Given the description of an element on the screen output the (x, y) to click on. 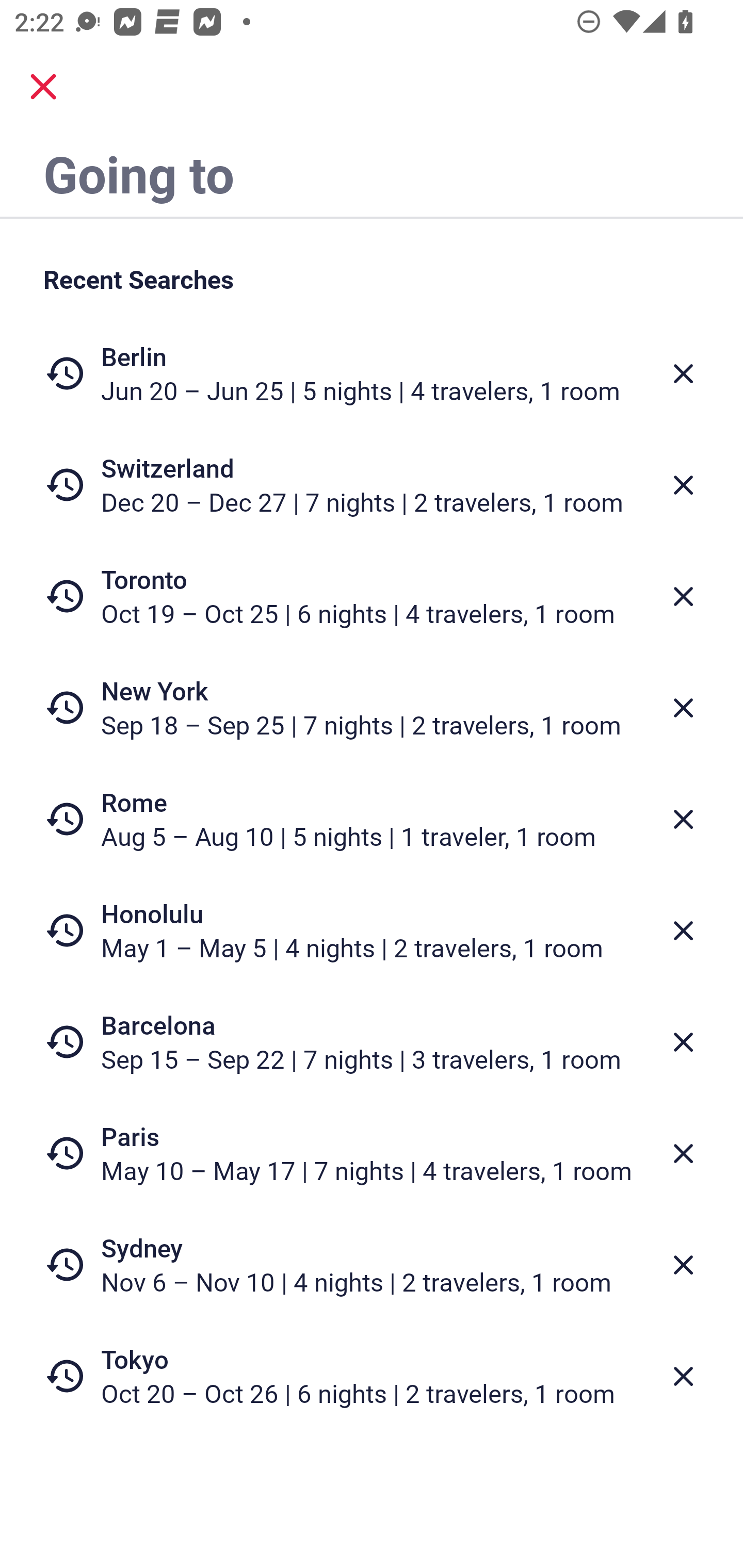
close. (43, 86)
Delete from recent searches (683, 373)
Delete from recent searches (683, 485)
Delete from recent searches (683, 596)
Delete from recent searches (683, 707)
Delete from recent searches (683, 819)
Delete from recent searches (683, 930)
Delete from recent searches (683, 1041)
Delete from recent searches (683, 1153)
Delete from recent searches (683, 1265)
Delete from recent searches (683, 1376)
